Given the description of an element on the screen output the (x, y) to click on. 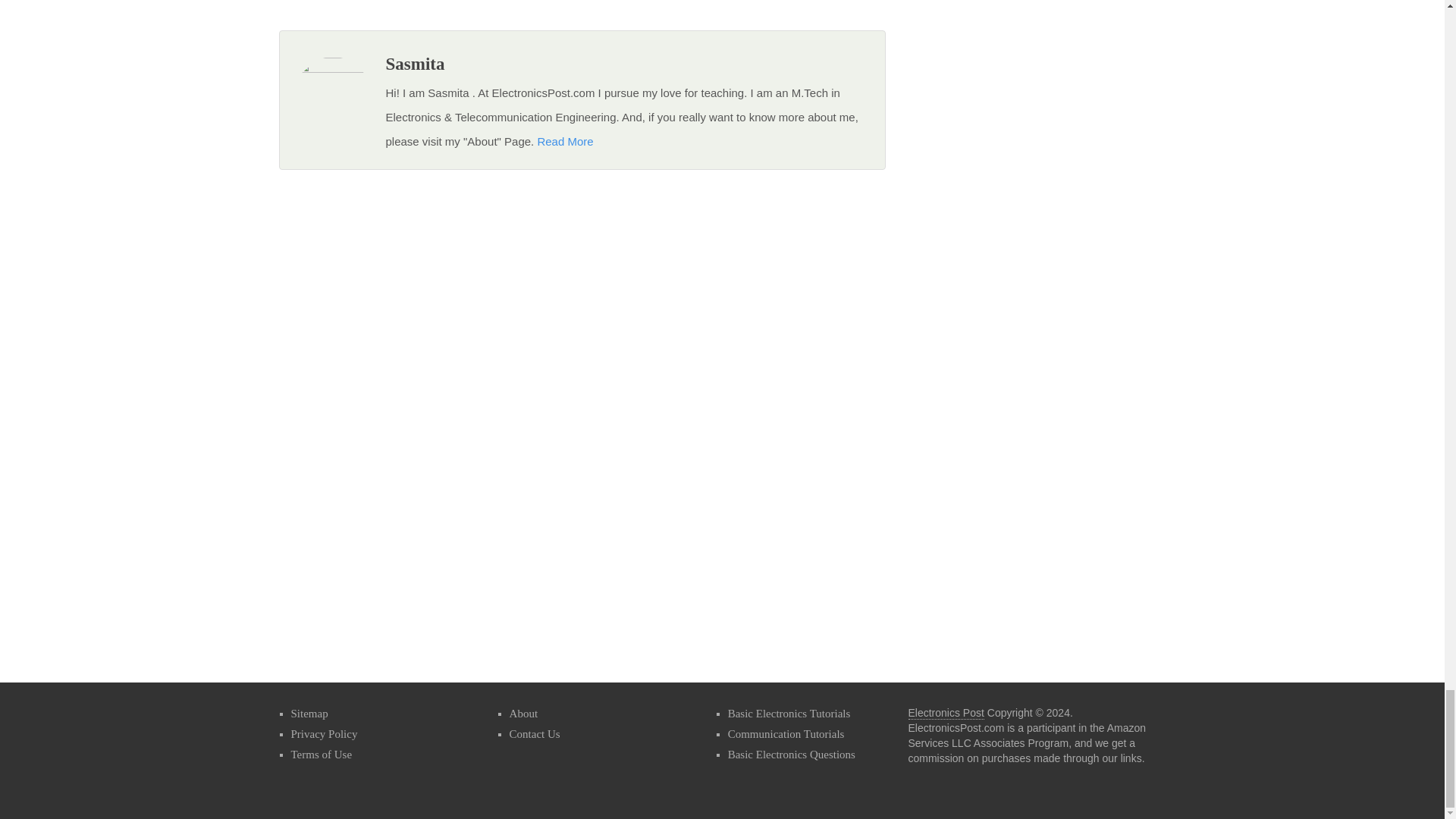
Sasmita (414, 63)
 The Best Electronics Blog (946, 712)
Read More (564, 141)
